Given the description of an element on the screen output the (x, y) to click on. 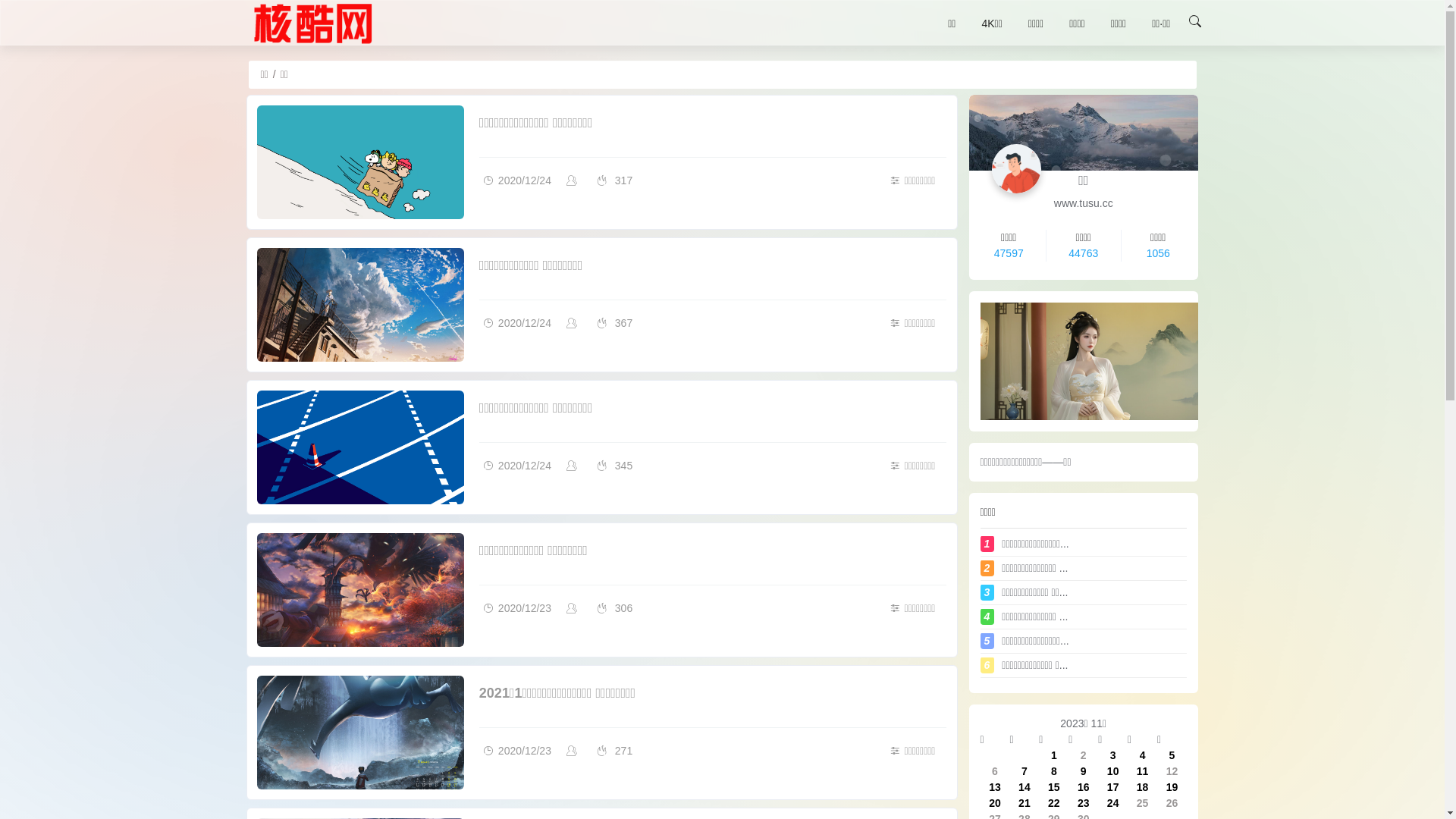
24 Element type: text (1113, 802)
22 Element type: text (1054, 802)
18 Element type: text (1142, 787)
4 Element type: text (1142, 755)
19 Element type: text (1172, 787)
8 Element type: text (1054, 770)
1 Element type: text (1054, 755)
10 Element type: text (1113, 770)
13 Element type: text (994, 787)
14 Element type: text (1024, 787)
9 Element type: text (1083, 770)
15 Element type: text (1054, 787)
23 Element type: text (1083, 802)
16 Element type: text (1083, 787)
3 Element type: text (1113, 755)
21 Element type: text (1024, 802)
5 Element type: text (1172, 755)
20 Element type: text (994, 802)
1056 Element type: text (1158, 253)
11 Element type: text (1142, 770)
17 Element type: text (1113, 787)
7 Element type: text (1024, 770)
